Given the description of an element on the screen output the (x, y) to click on. 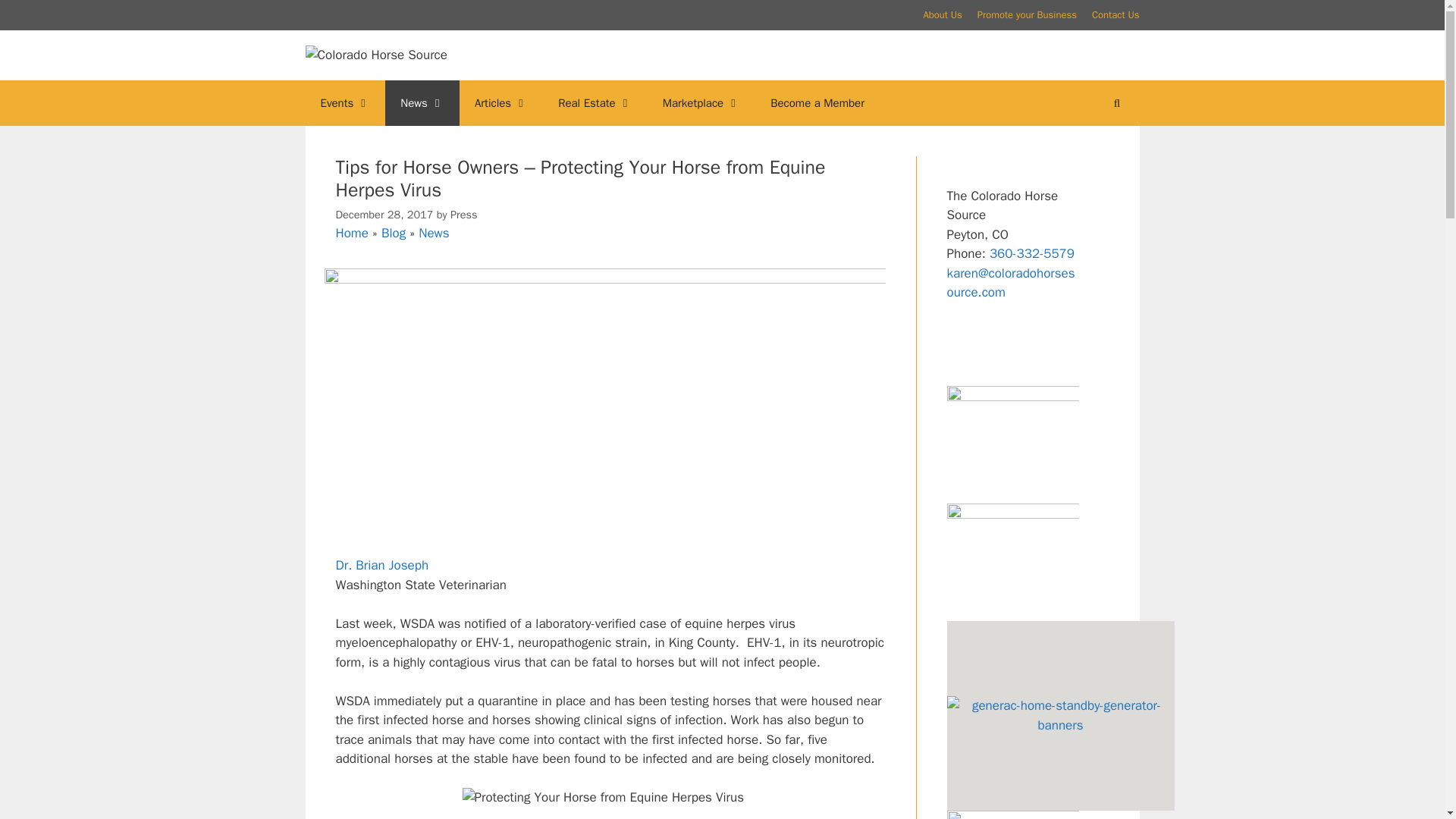
Become a Member (817, 103)
Press (463, 214)
Contact Us (1116, 14)
Blog (393, 232)
Promote your Business (1026, 14)
News (422, 103)
News (433, 232)
Dr. Brian Joseph (381, 565)
Home (351, 232)
View all posts by Press (463, 214)
About Us (941, 14)
Marketplace (701, 103)
Real Estate (594, 103)
Events (344, 103)
Articles (501, 103)
